Given the description of an element on the screen output the (x, y) to click on. 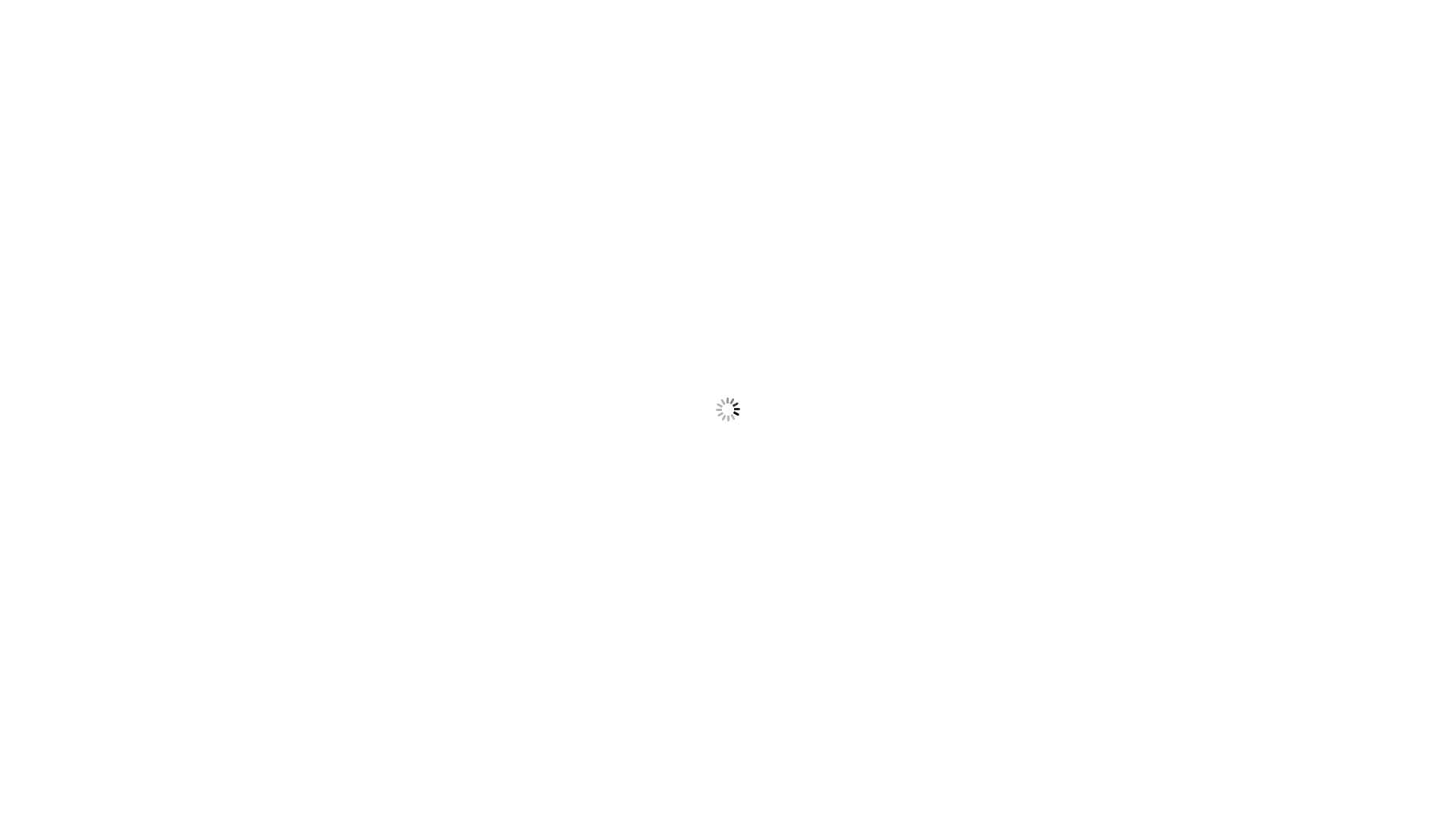
Satin Software Front Office System Element type: text (619, 662)
+618 8821 1920 Element type: text (772, 156)
About us Element type: text (529, 211)
Accommodation Element type: text (722, 211)
Contact Element type: text (826, 211)
Book Now Element type: text (343, 379)
Terms Element type: text (903, 211)
08 8821 1920 Element type: text (666, 156)
Kadina Village Motel Element type: hover (433, 105)
Location Element type: text (614, 211)
Home Element type: text (453, 211)
Book direct Element type: text (988, 211)
Accommodation Element type: text (722, 212)
